Given the description of an element on the screen output the (x, y) to click on. 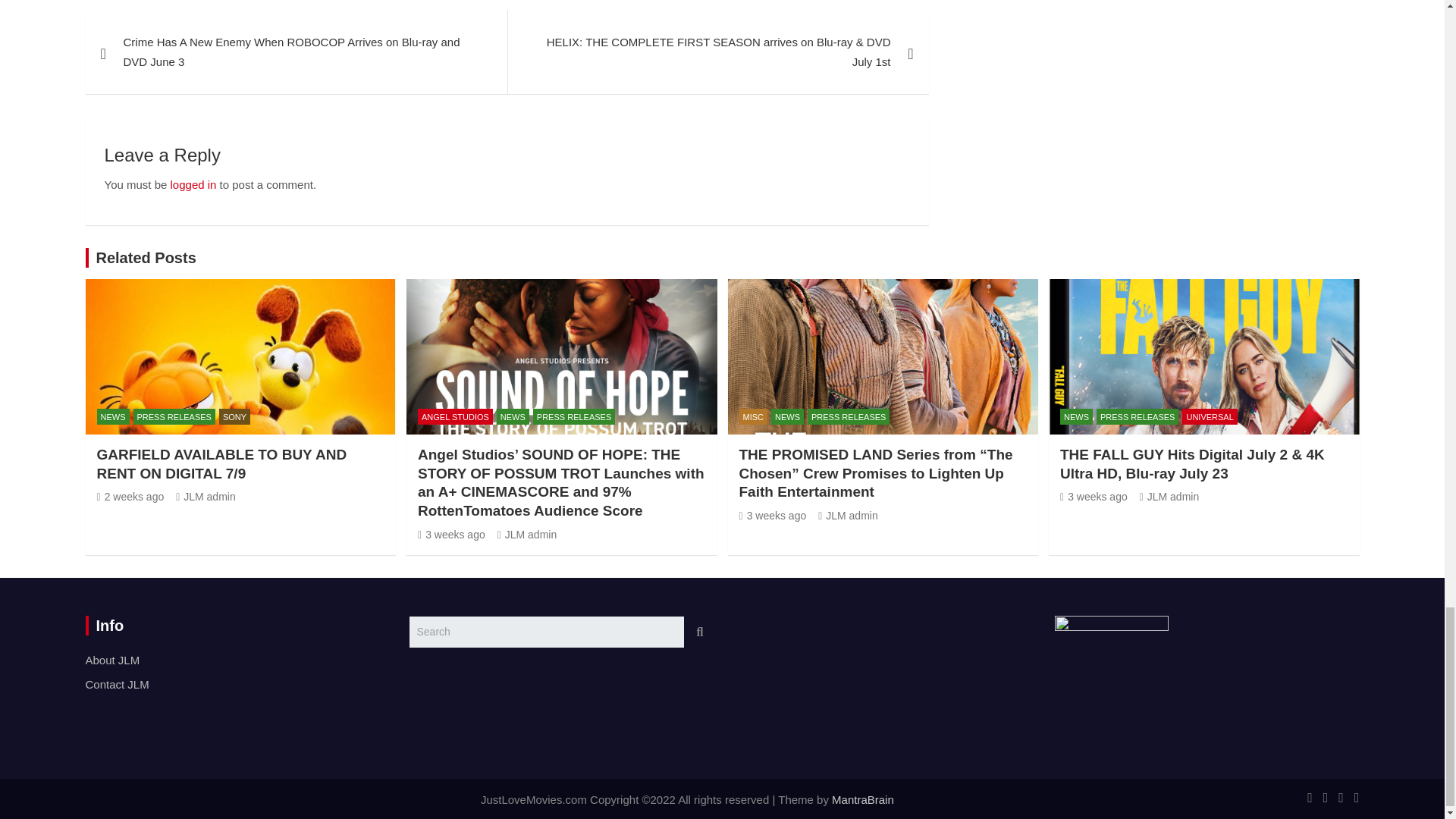
3 weeks ago (772, 515)
3 weeks ago (1092, 496)
3 weeks ago (450, 534)
2 weeks ago (130, 496)
MantraBrain (862, 799)
